Given the description of an element on the screen output the (x, y) to click on. 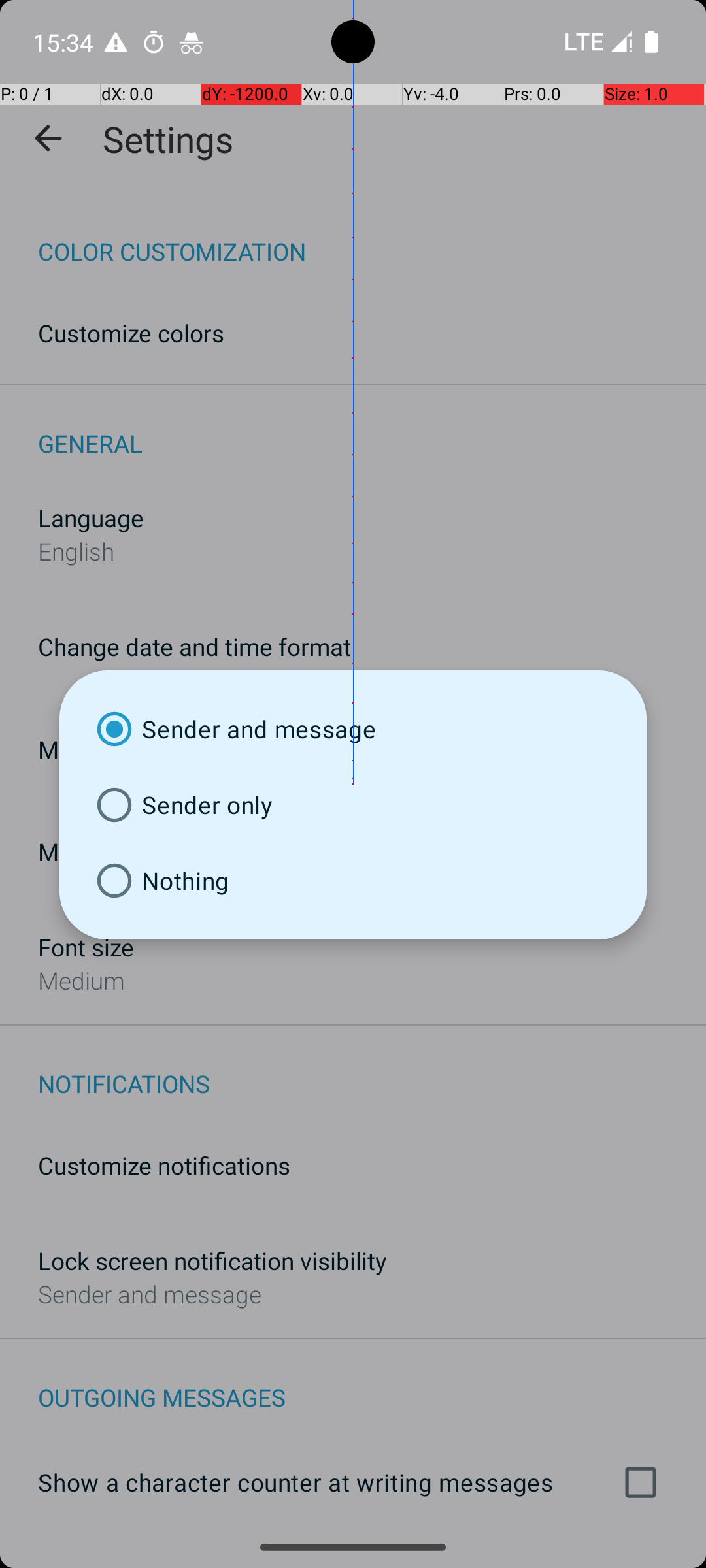
Sender and message Element type: android.widget.RadioButton (352, 729)
Sender only Element type: android.widget.RadioButton (352, 804)
Nothing Element type: android.widget.RadioButton (352, 880)
